Given the description of an element on the screen output the (x, y) to click on. 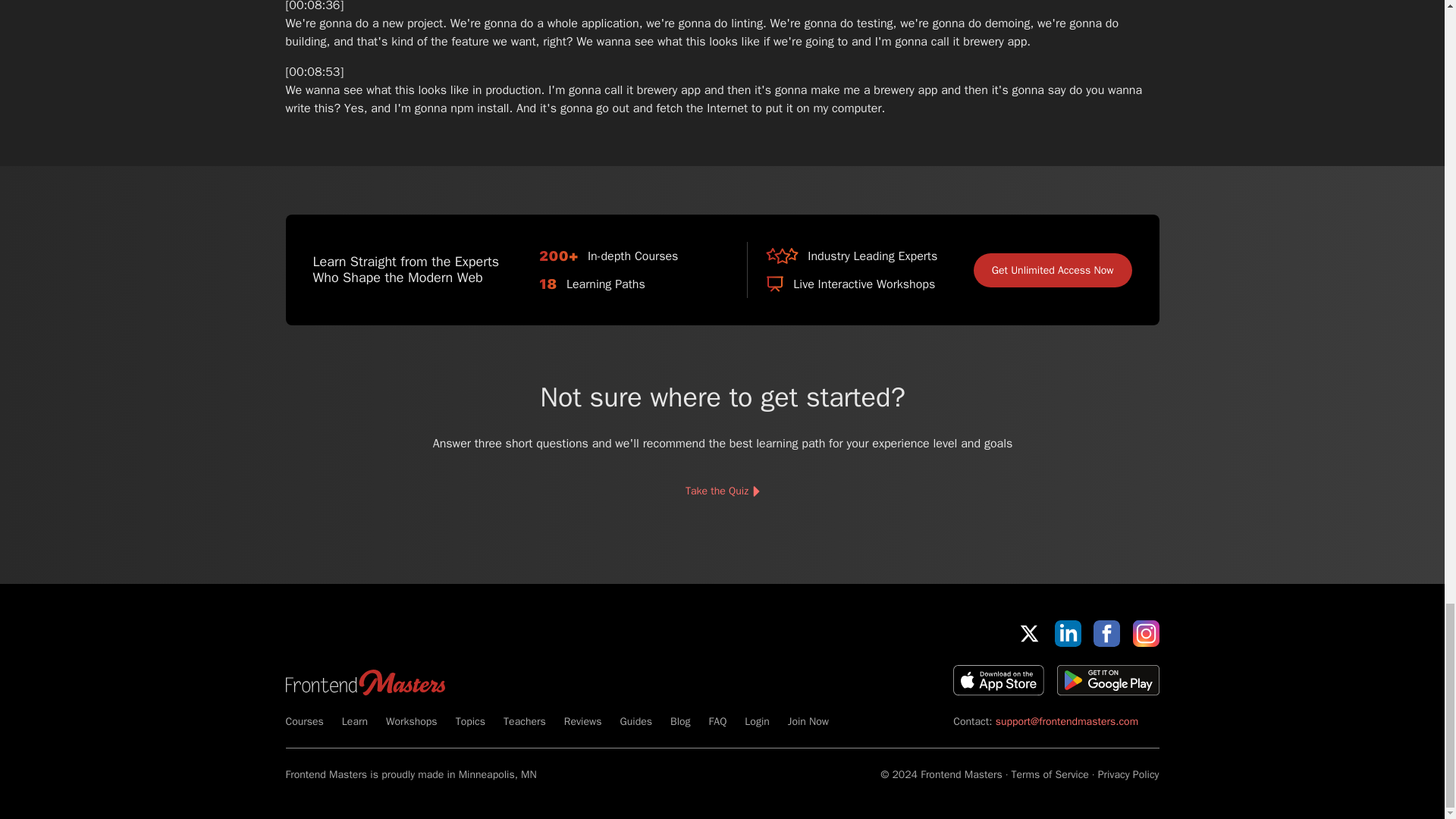
Topics (469, 721)
Blog (679, 721)
Reviews (583, 721)
Google App Store (1107, 680)
Guides (636, 721)
Instagram (1145, 633)
Workshops (411, 721)
Join Now (807, 721)
FrontendMasters (364, 682)
Teachers (524, 721)
FAQ (717, 721)
Courses (304, 721)
Get Unlimited Access Now (1053, 270)
Take the Quiz (720, 490)
LinkedIn (1067, 633)
